Given the description of an element on the screen output the (x, y) to click on. 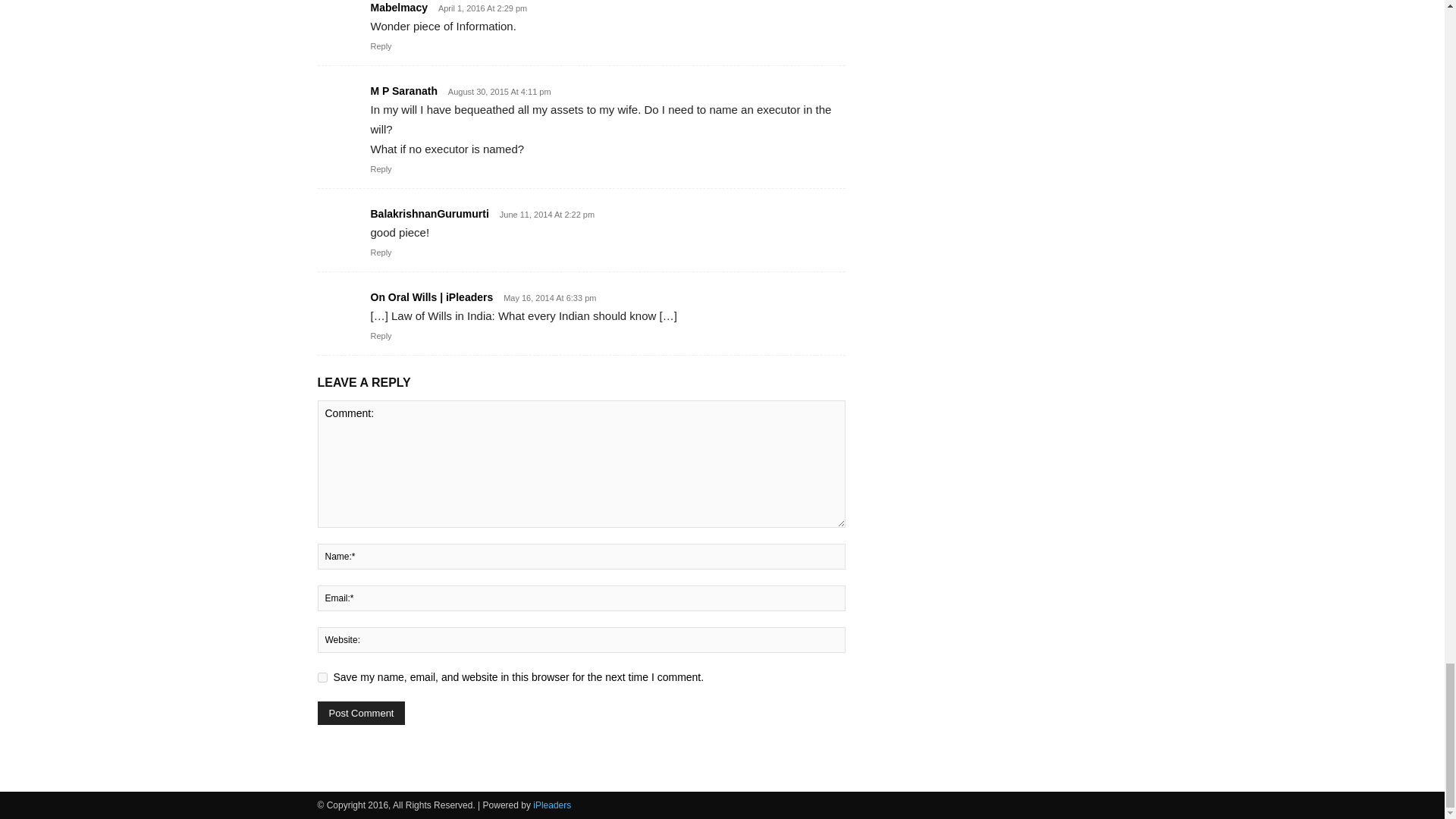
Post Comment (360, 753)
yes (321, 717)
